Given the description of an element on the screen output the (x, y) to click on. 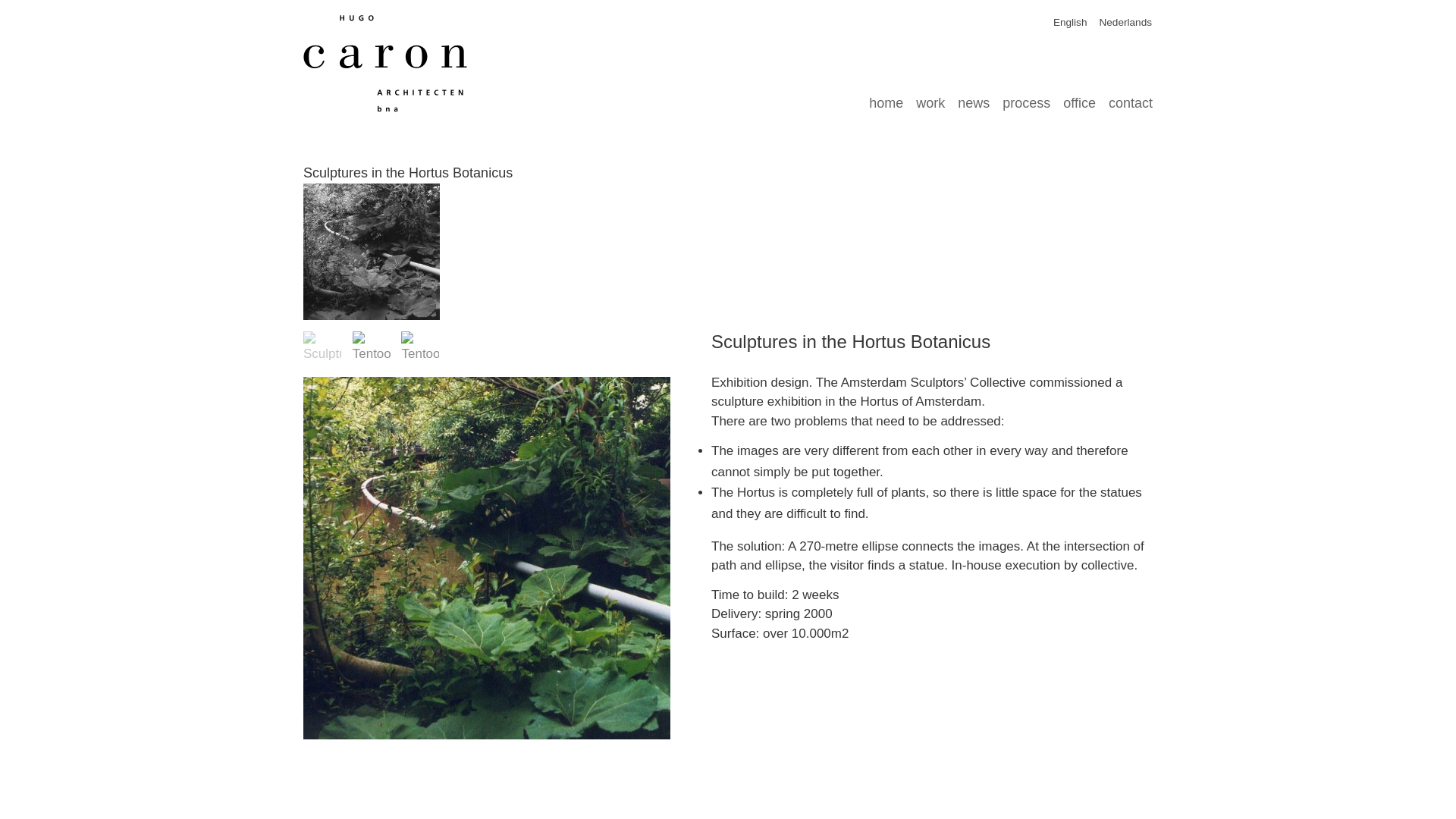
contact (1124, 97)
abh02-W2 (371, 350)
abh03-W2 (321, 350)
Hugo Caron (384, 63)
abh01-W2 (420, 350)
Nederlands (1118, 22)
Sculptures in the Hortus Botanicus (407, 172)
English (1064, 22)
home (879, 97)
office (1072, 97)
process (1019, 97)
news (967, 97)
work (923, 97)
